Given the description of an element on the screen output the (x, y) to click on. 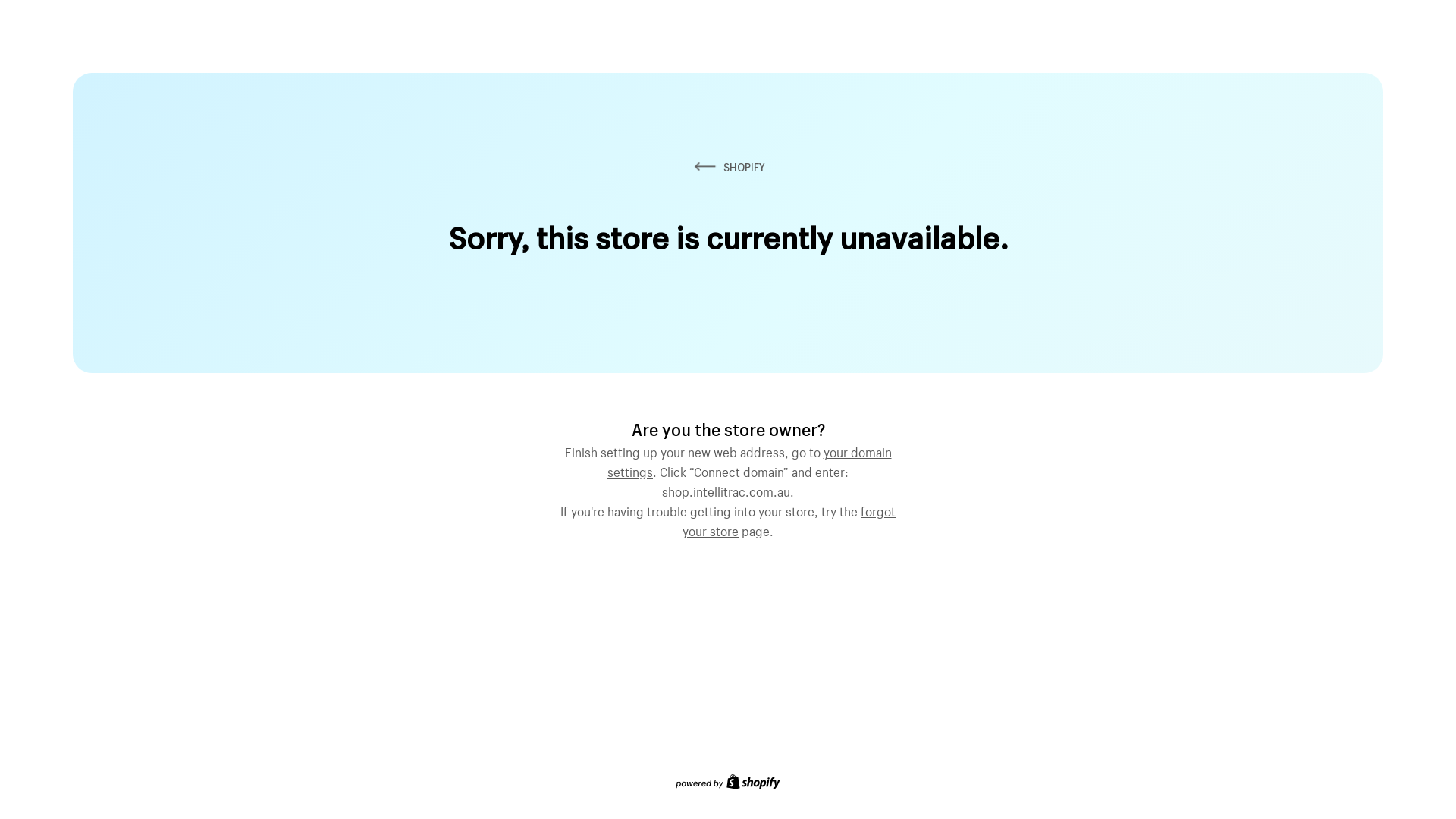
your domain settings Element type: text (749, 460)
SHOPIFY Element type: text (727, 167)
forgot your store Element type: text (788, 519)
